Given the description of an element on the screen output the (x, y) to click on. 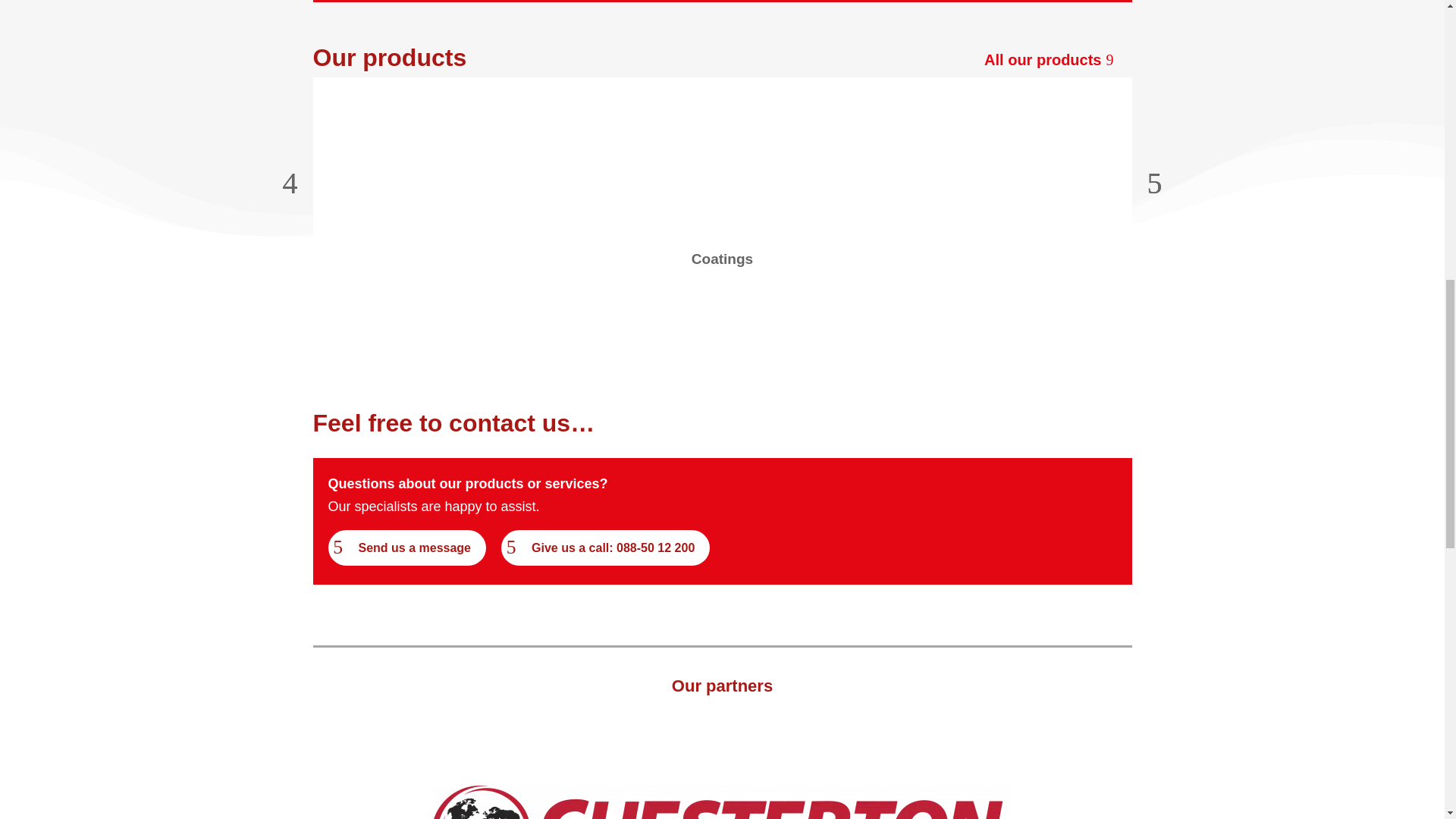
Give us a call: 088-50 12 200 (605, 547)
Contactfoto1-1 sellon (972, 487)
Send us a message (406, 547)
All our products (1052, 59)
